Given the description of an element on the screen output the (x, y) to click on. 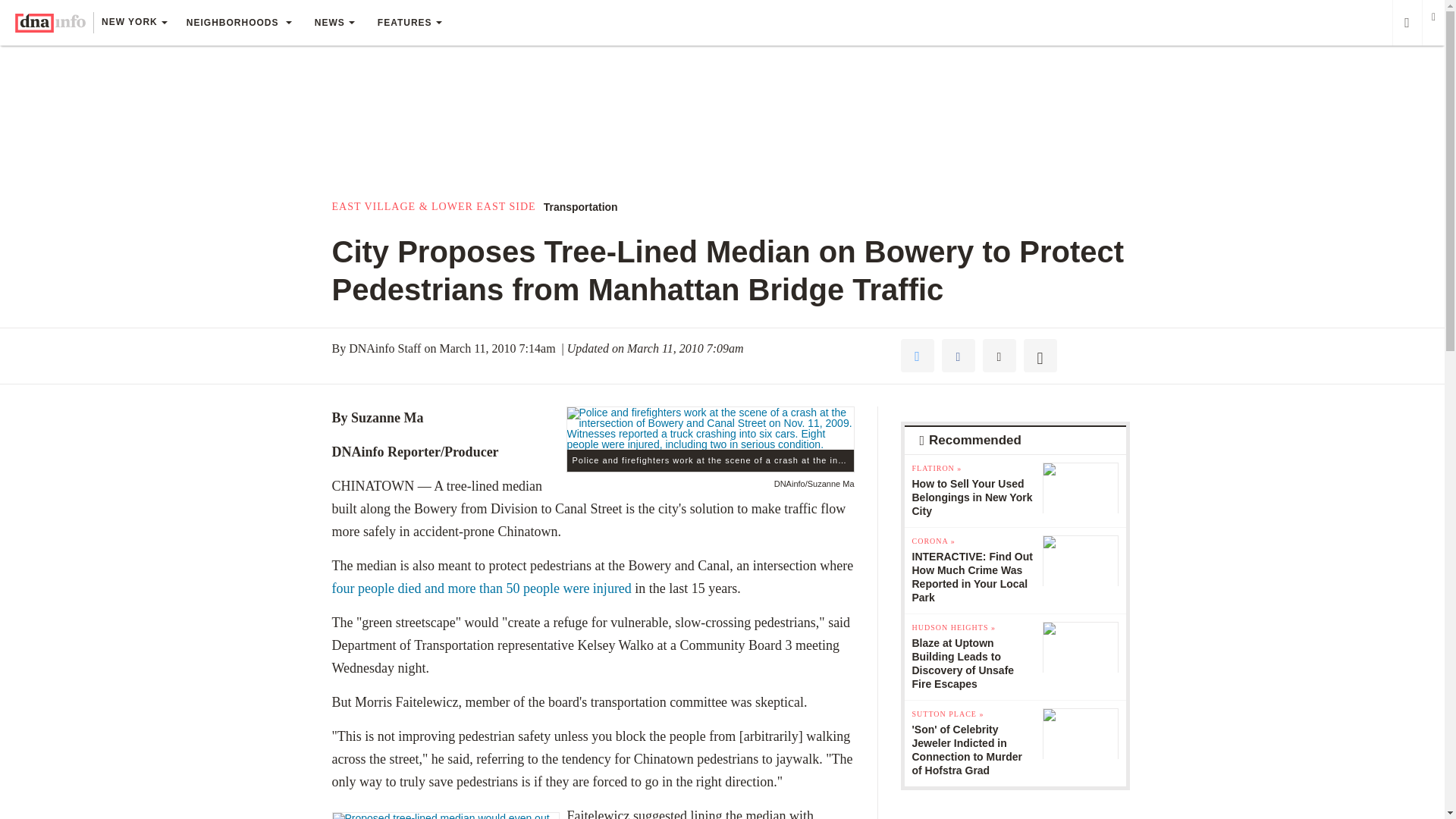
NEIGHBORHOODS (238, 22)
New York - Home (49, 22)
NEW YORK (133, 23)
NEWS (334, 22)
